Given the description of an element on the screen output the (x, y) to click on. 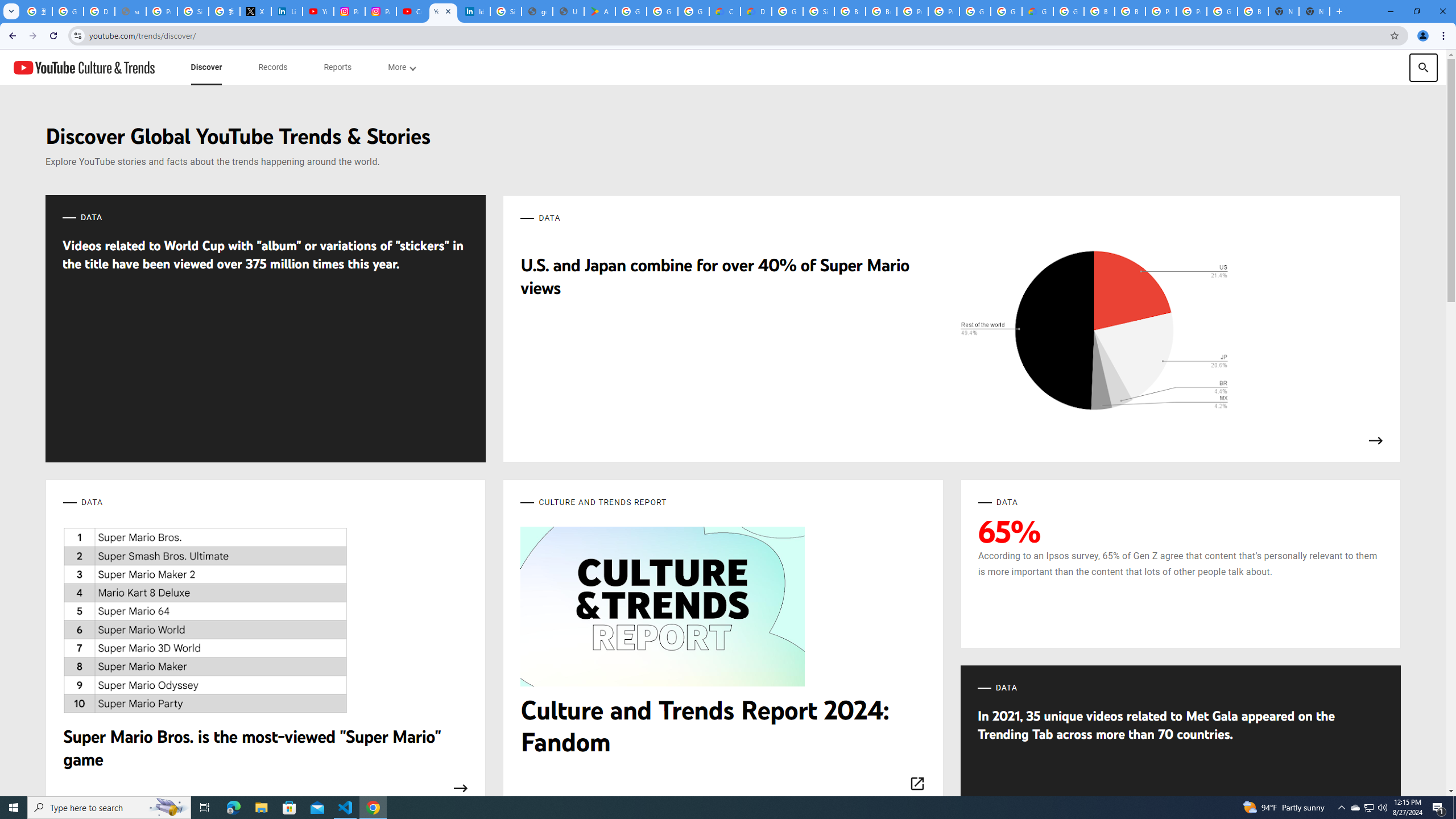
LinkedIn Privacy Policy (286, 11)
YouTube Content Monetization Policies - How YouTube Works (318, 11)
YouTube Culture & Trends (83, 67)
Browse Chrome as a guest - Computer - Google Chrome Help (1098, 11)
